Given the description of an element on the screen output the (x, y) to click on. 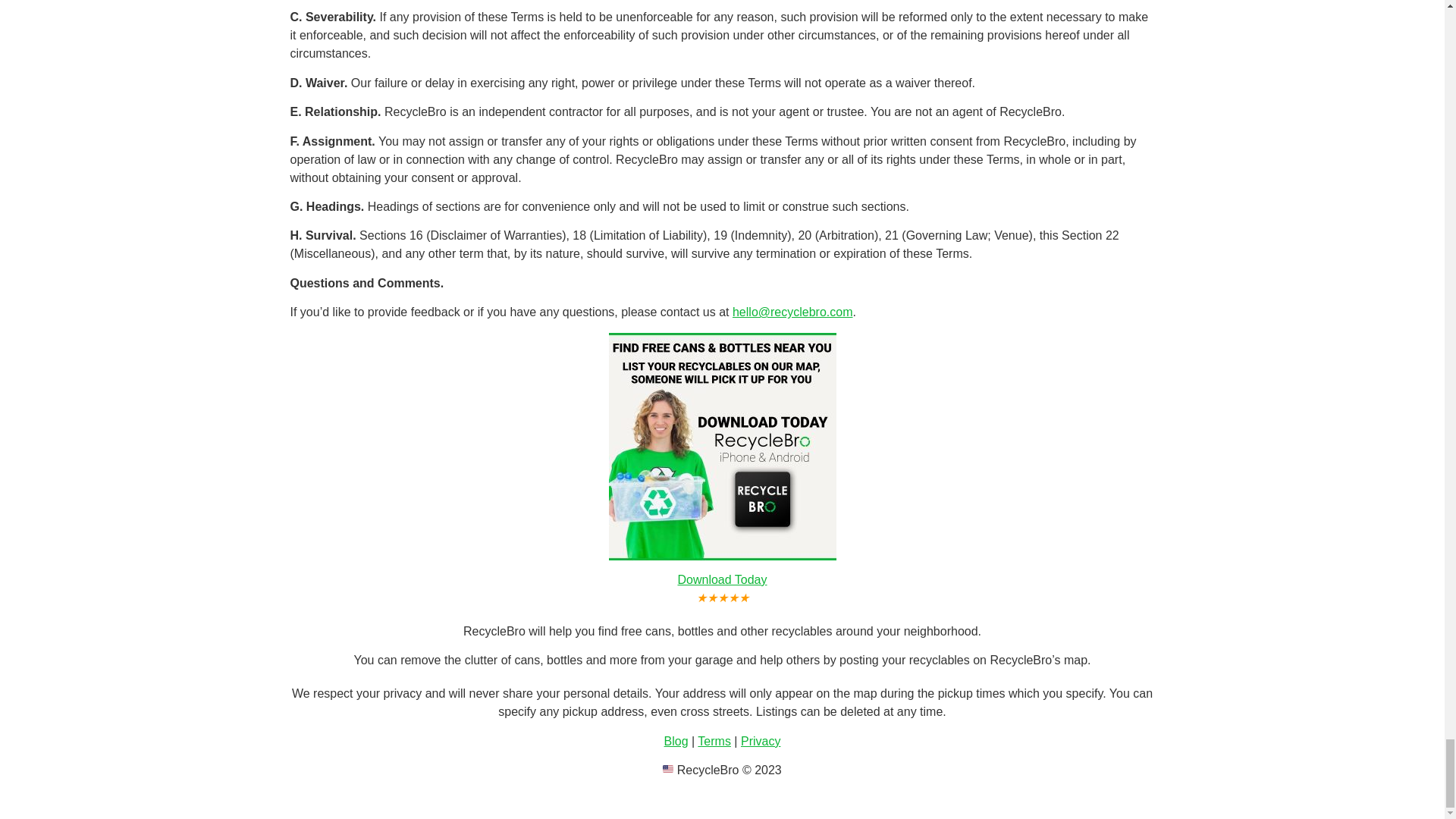
Privacy (760, 740)
Terms (713, 740)
Download Today (722, 579)
Blog (675, 740)
